Given the description of an element on the screen output the (x, y) to click on. 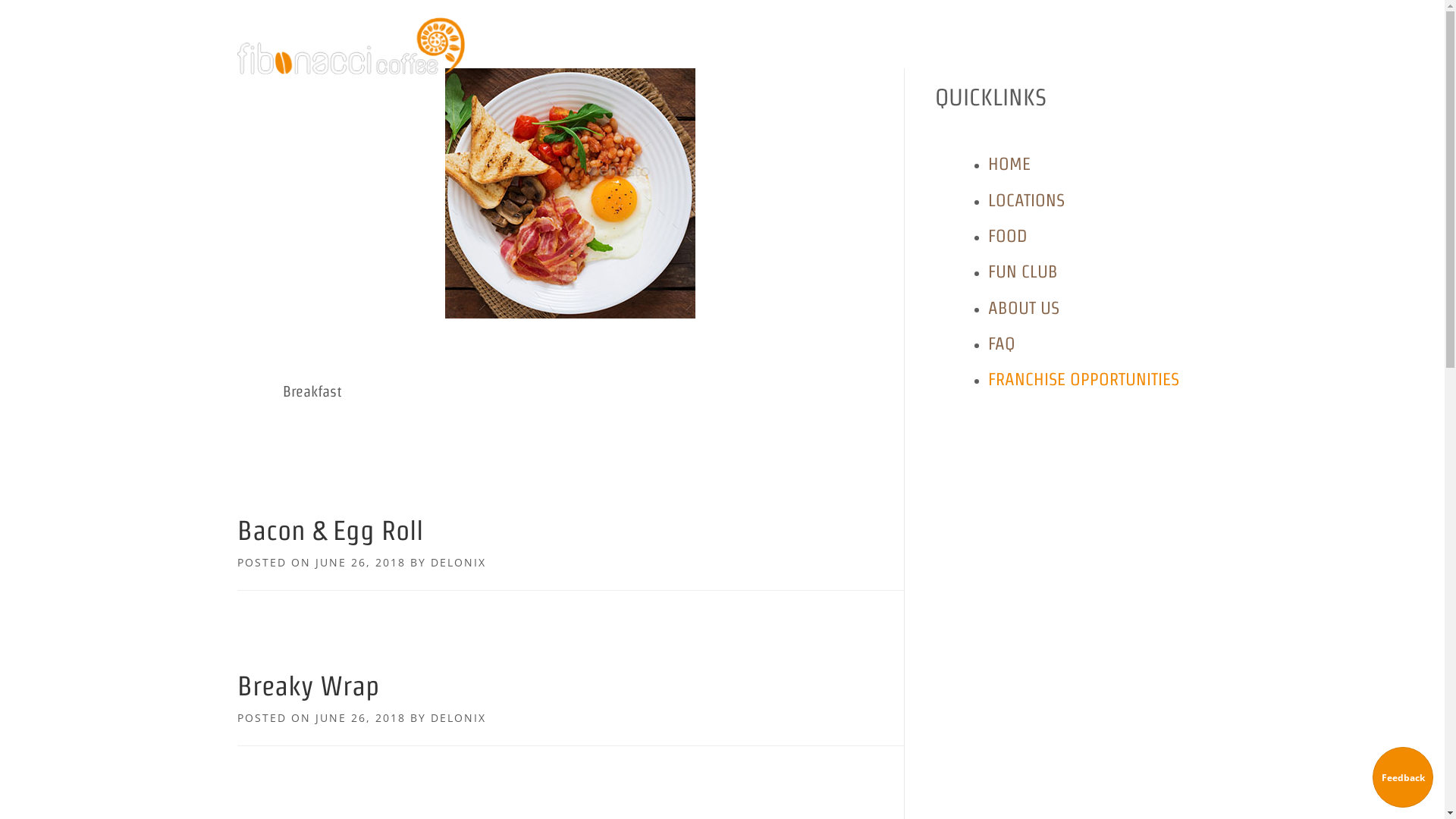
ABOUT US Element type: text (1022, 307)
Breaky Wrap Element type: text (307, 685)
FRANCHISE OPPORTUNITIES Element type: text (1082, 378)
FRANCHISING Element type: text (1069, 65)
TESTIMONIALS Element type: text (977, 65)
FUN CLUB Element type: text (825, 65)
FOOD Element type: text (768, 65)
ABOUT US Element type: text (896, 65)
Feedback Element type: text (1402, 776)
Bacon & Egg Roll Element type: text (329, 530)
FUN CLUB Element type: text (1022, 270)
FAQ Element type: text (1000, 342)
Fibonacci Coffee Element type: text (350, 45)
LOCATIONS Element type: text (1025, 199)
HOME Element type: text (642, 65)
Skip to content Element type: text (30, 0)
FOOD Element type: text (1006, 234)
LOCATIONS Element type: text (705, 65)
CAREER Element type: text (1179, 65)
FAQ Element type: text (1132, 65)
HOME Element type: text (1008, 162)
